Given the description of an element on the screen output the (x, y) to click on. 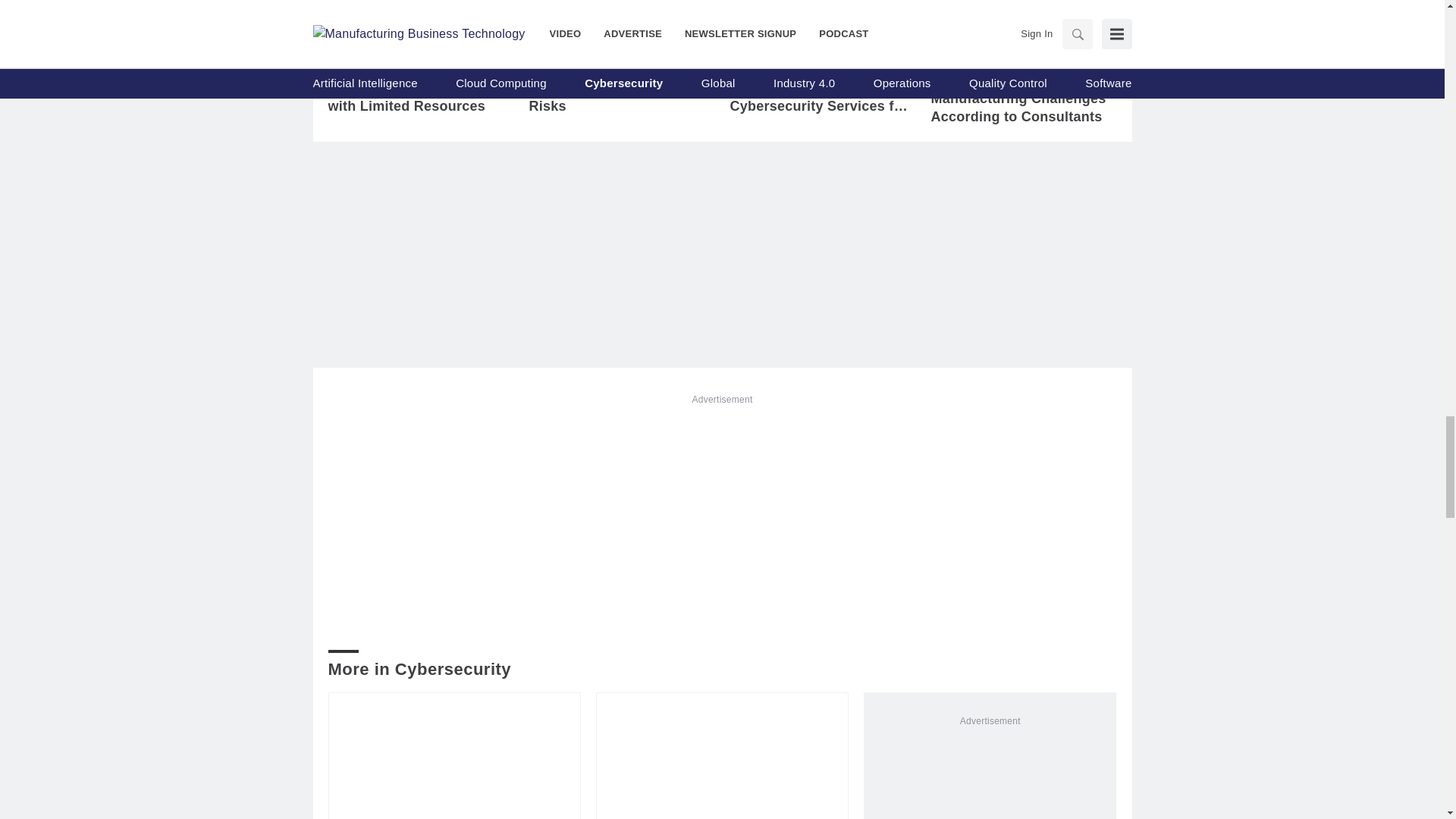
Sponsor Content (996, 48)
Cybersecurity (786, 43)
Cybersecurity (384, 43)
Cybersecurity (585, 43)
